Given the description of an element on the screen output the (x, y) to click on. 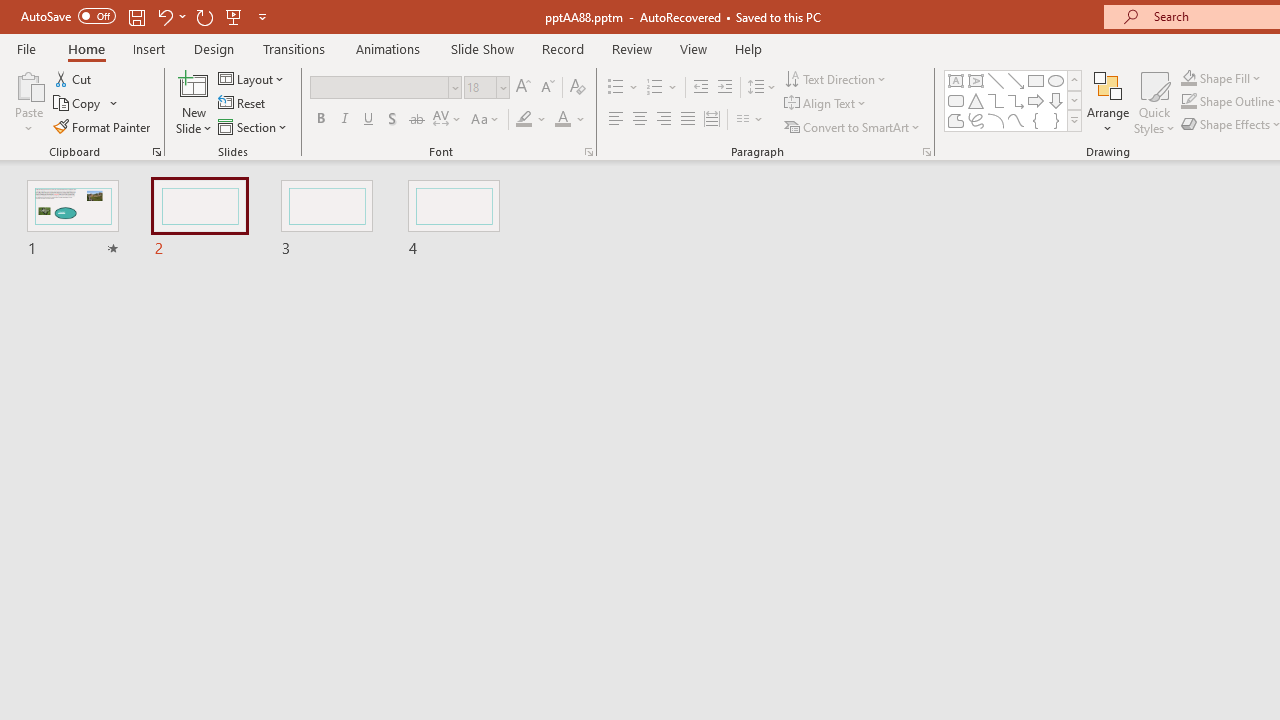
Line (995, 80)
Decrease Indent (700, 87)
Reset (243, 103)
Align Right (663, 119)
Isosceles Triangle (975, 100)
